Given the description of an element on the screen output the (x, y) to click on. 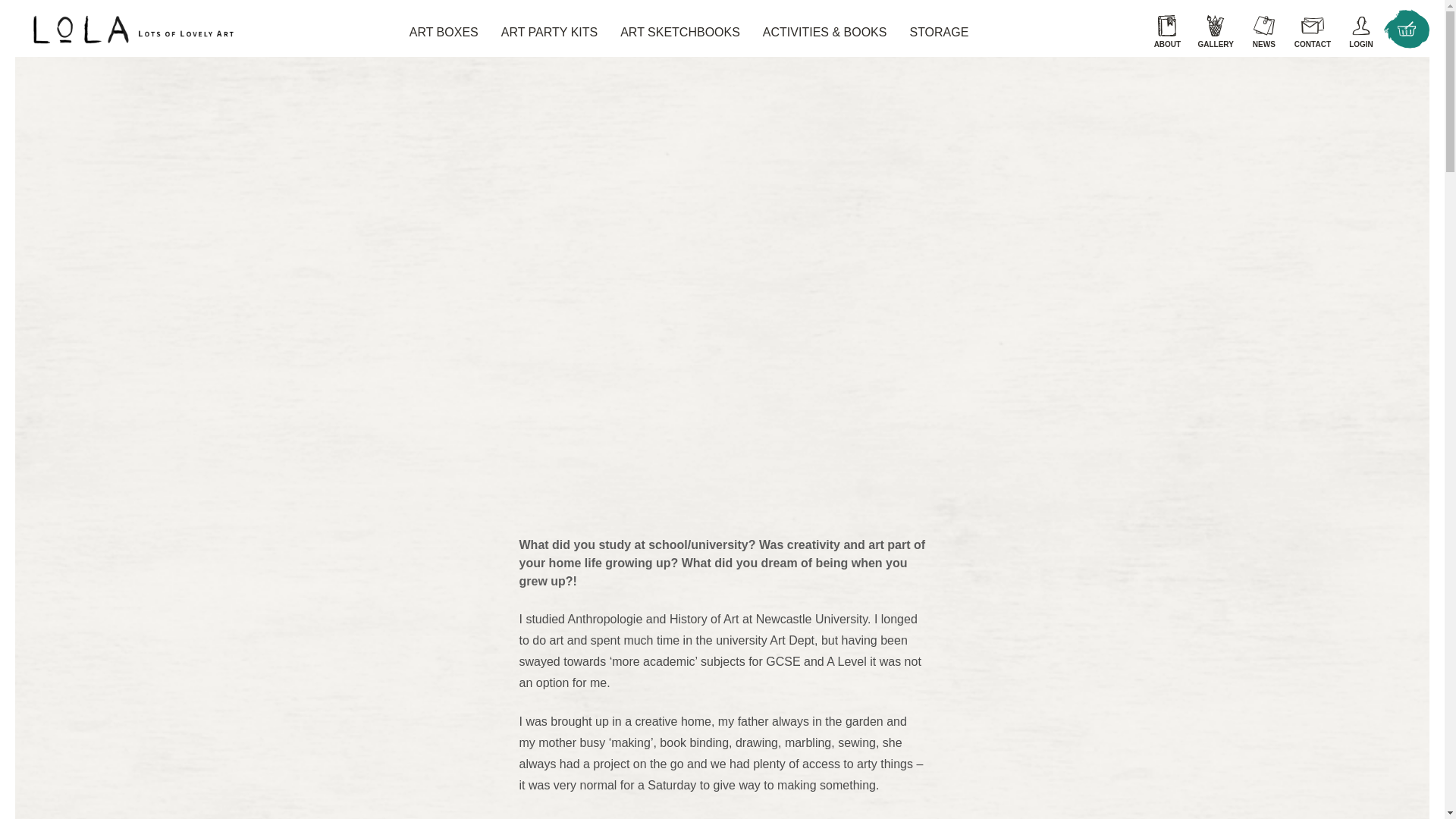
Lots Of Lovely Art Logo (123, 29)
ART BOXES (444, 31)
ART SKETCHBOOKS (679, 31)
GALLERY (1214, 27)
STORAGE (938, 31)
CONTACT (1312, 27)
Subscribe (721, 644)
ART PARTY KITS (548, 31)
